Given the description of an element on the screen output the (x, y) to click on. 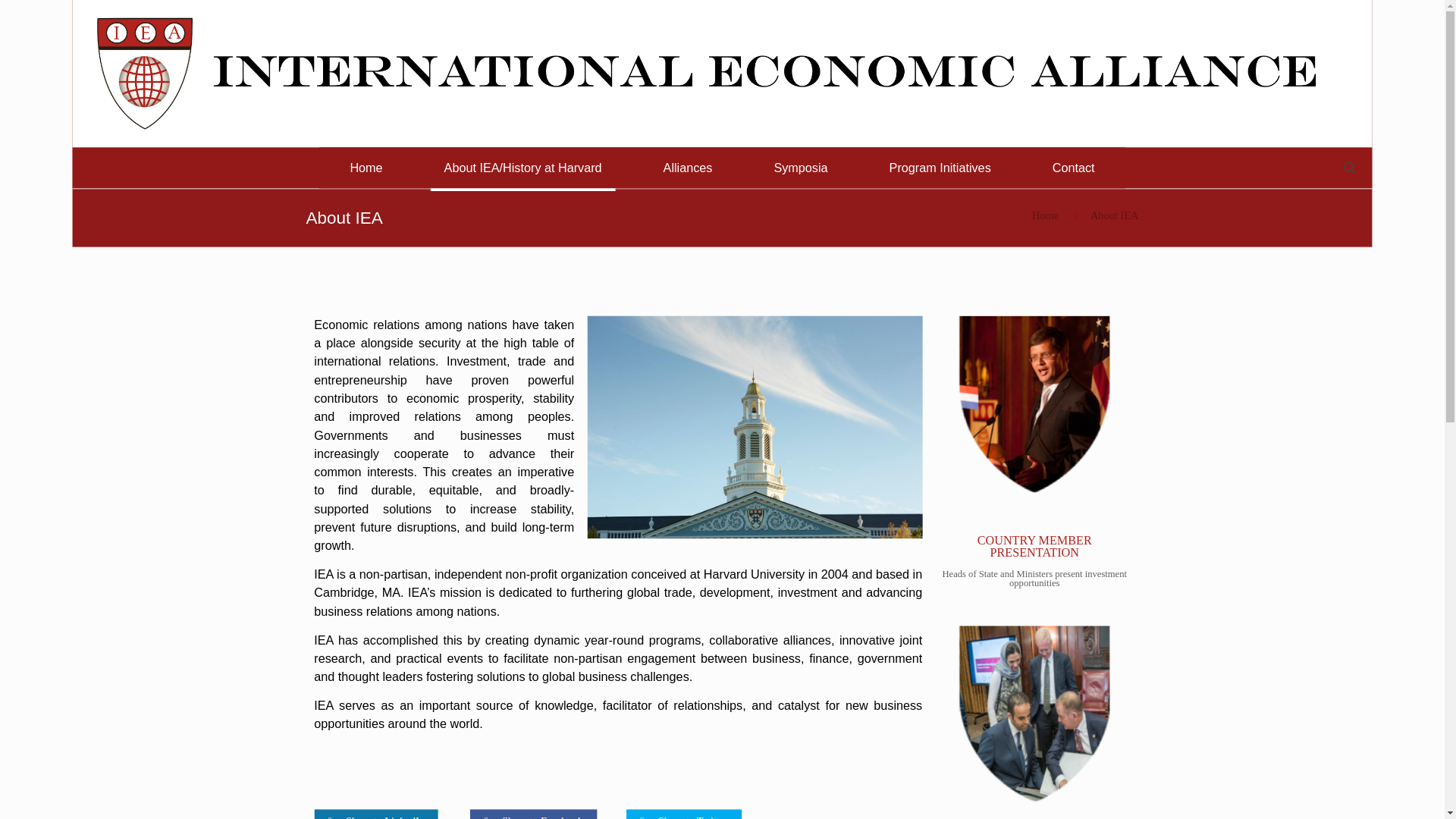
Alliances (692, 169)
Home (369, 169)
Symposia (805, 169)
